Given the description of an element on the screen output the (x, y) to click on. 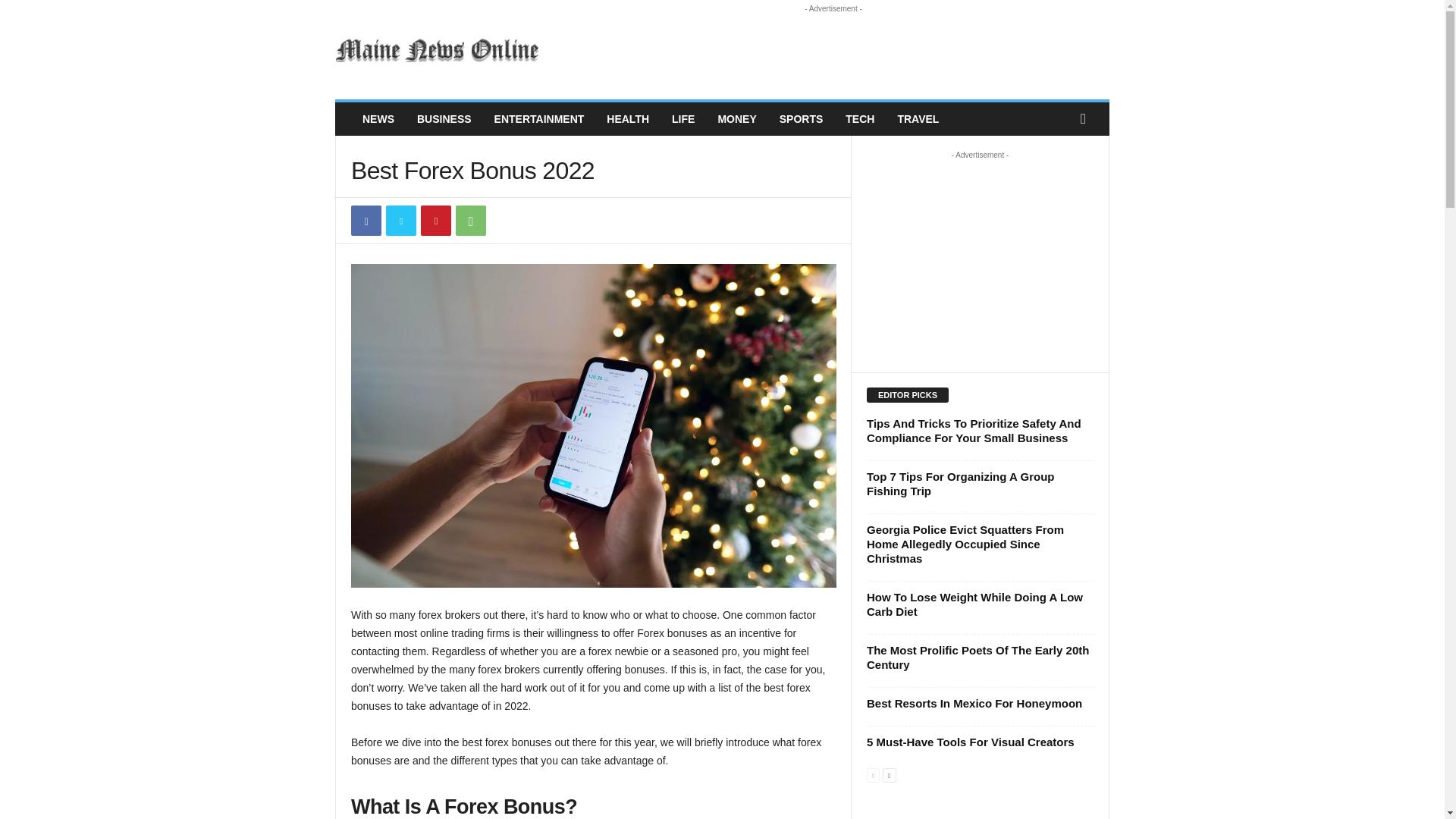
MONEY (736, 118)
Twitter (400, 220)
Advertisement (833, 49)
NEWS (378, 118)
HEALTH (628, 118)
Pinterest (435, 220)
LIFE (683, 118)
TECH (859, 118)
SPORTS (801, 118)
WhatsApp (470, 220)
Facebook (365, 220)
Maine News Online (437, 49)
TRAVEL (917, 118)
BUSINESS (444, 118)
ENTERTAINMENT (539, 118)
